Given the description of an element on the screen output the (x, y) to click on. 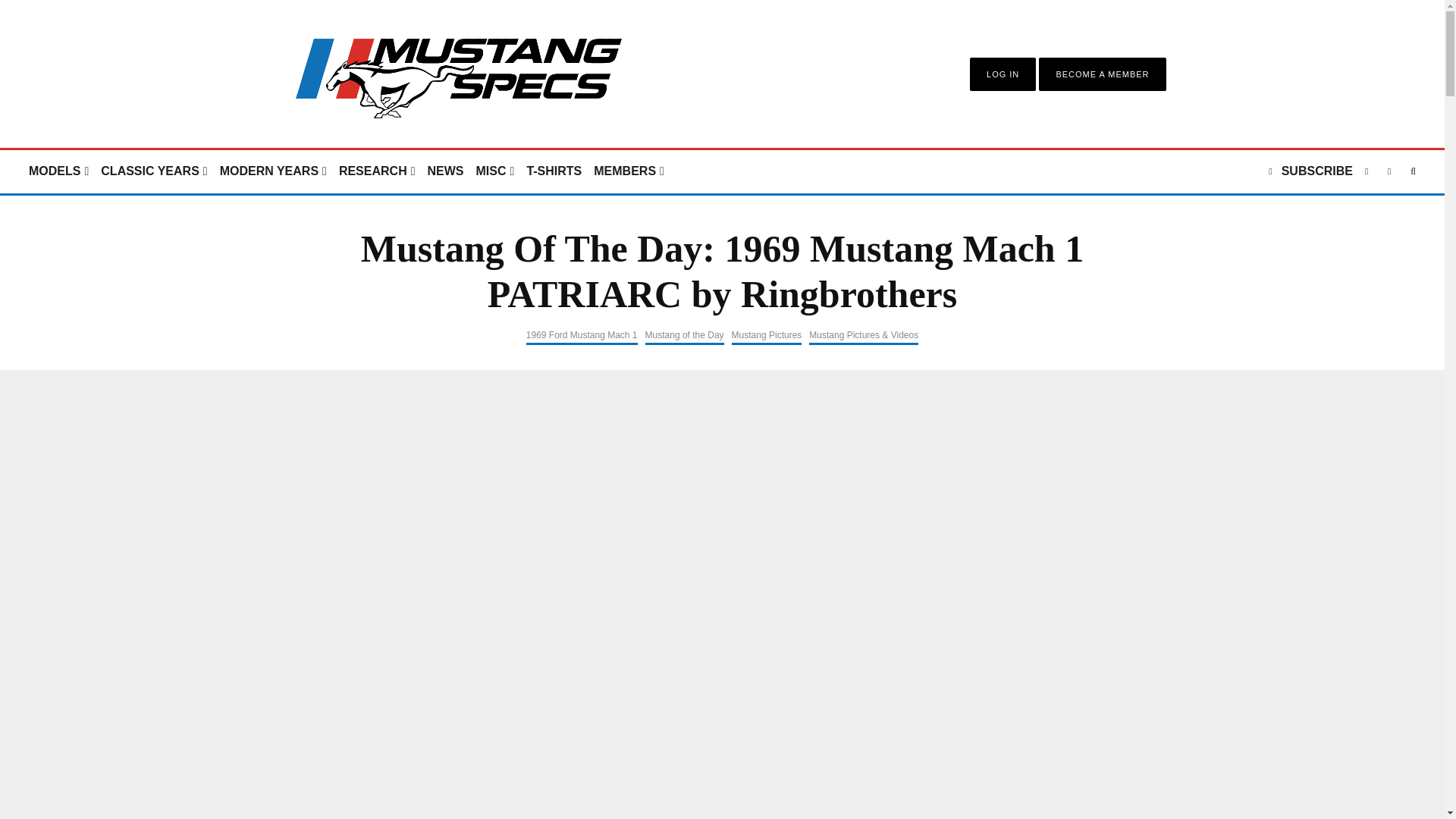
CLASSIC YEARS (153, 171)
LOG IN (1003, 73)
BECOME A MEMBER (1101, 73)
MODELS (58, 171)
